Given the description of an element on the screen output the (x, y) to click on. 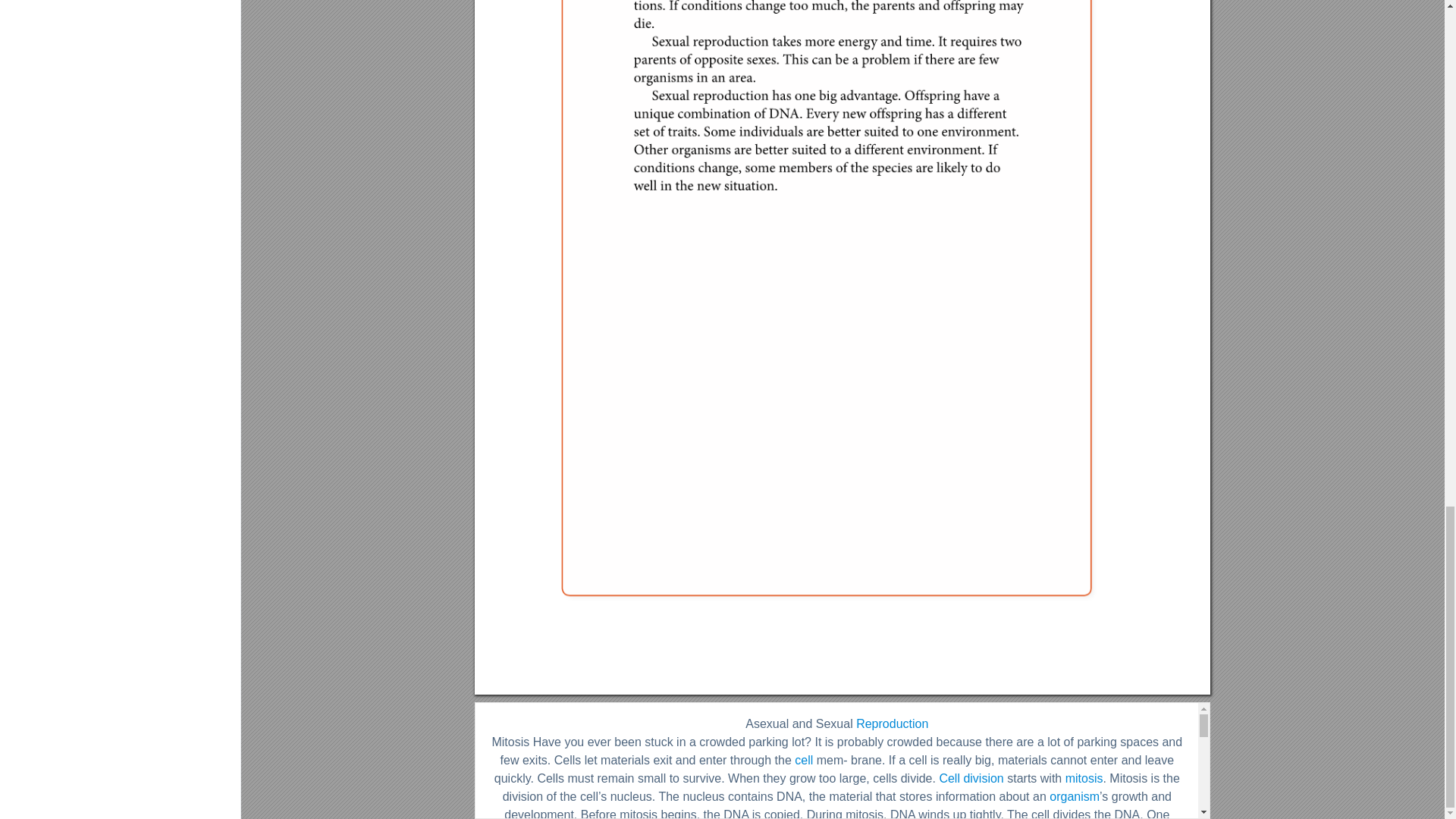
Reproduction (892, 723)
Cell division (971, 778)
mitosis (1084, 778)
cell (803, 759)
organism (1074, 796)
